Given the description of an element on the screen output the (x, y) to click on. 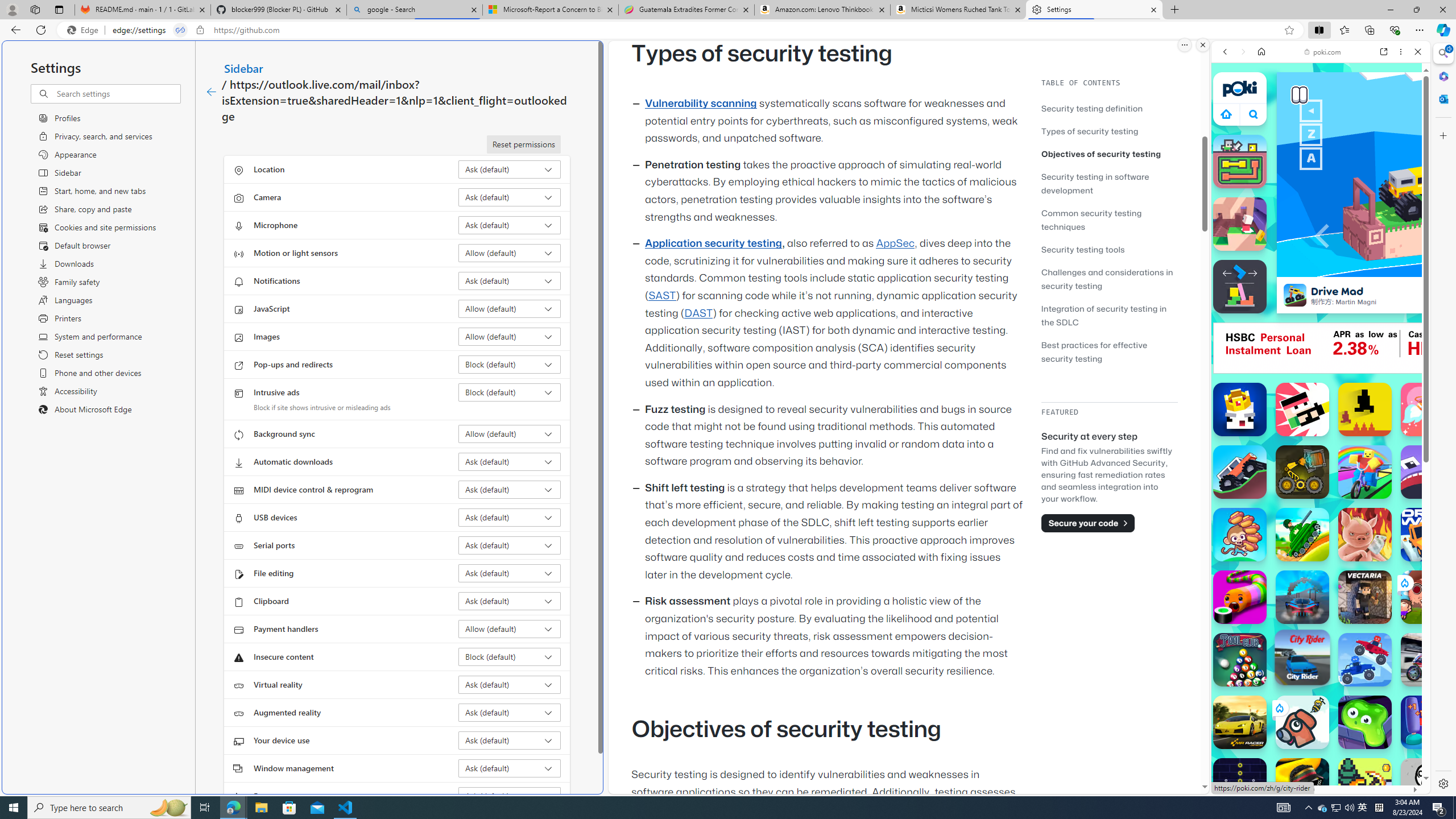
SUBWAY SURFERS - Play Online for Free! | Poki (1315, 765)
Security testing tools (1109, 249)
Challenges and considerations in security testing (1109, 279)
Stacktris (1239, 286)
Eat the world (1427, 597)
Objectives of security testing (1109, 153)
Best practices for effective security testing (1094, 351)
Hills of Steel Hills of Steel poki.com (1264, 548)
